Given the description of an element on the screen output the (x, y) to click on. 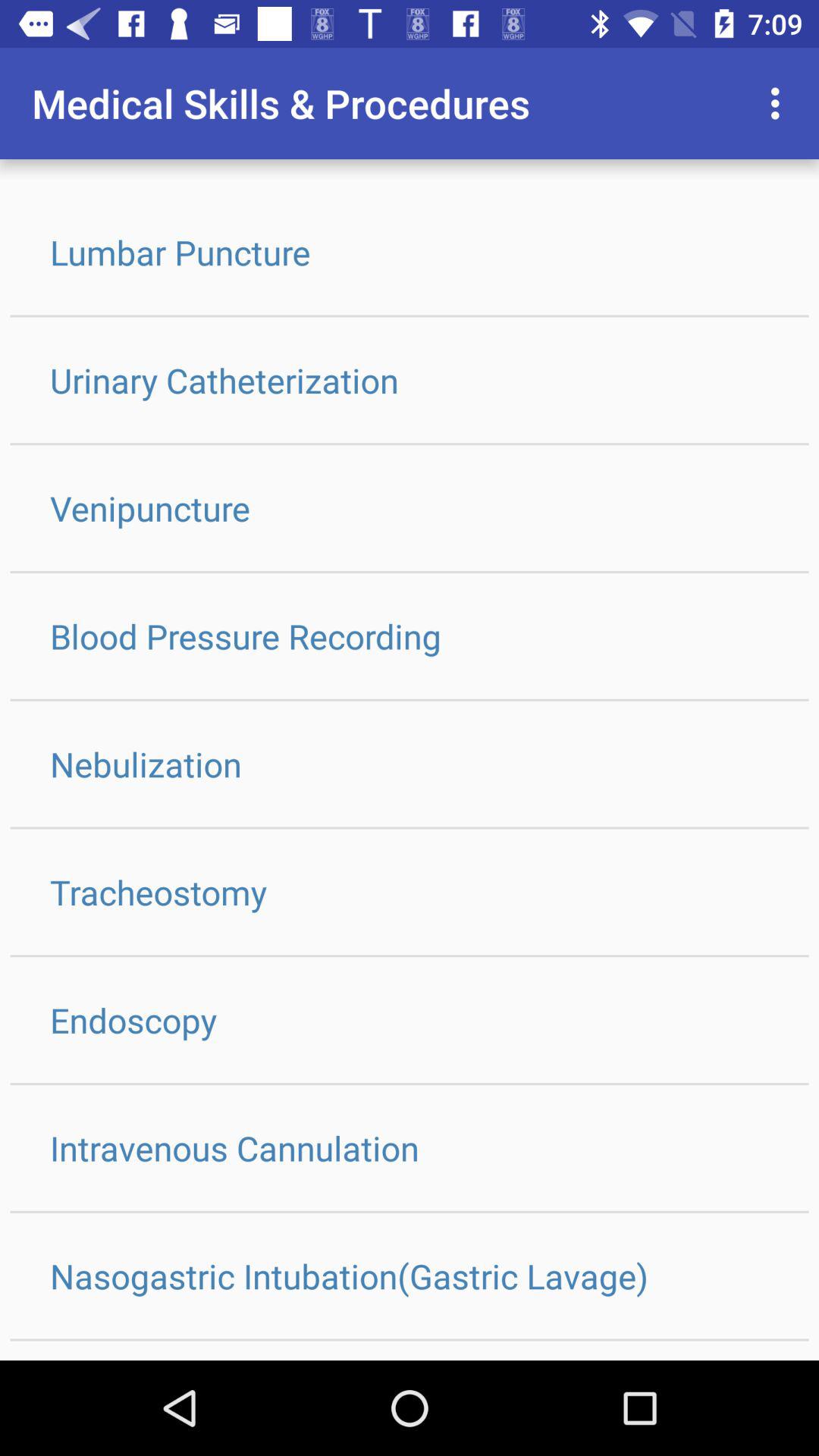
launch the urinary catheterization icon (409, 380)
